Given the description of an element on the screen output the (x, y) to click on. 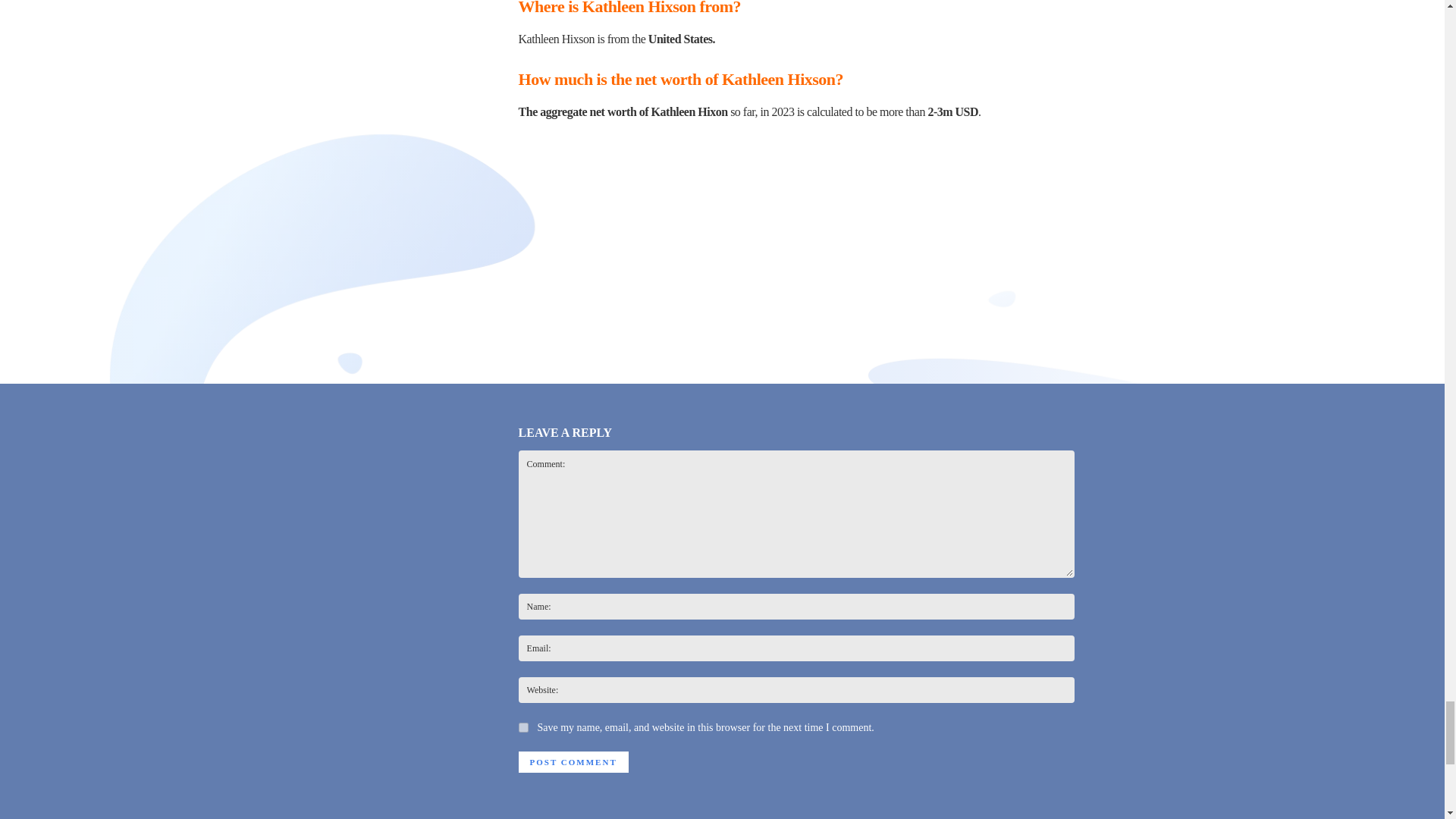
yes (523, 727)
Post Comment (573, 762)
